Given the description of an element on the screen output the (x, y) to click on. 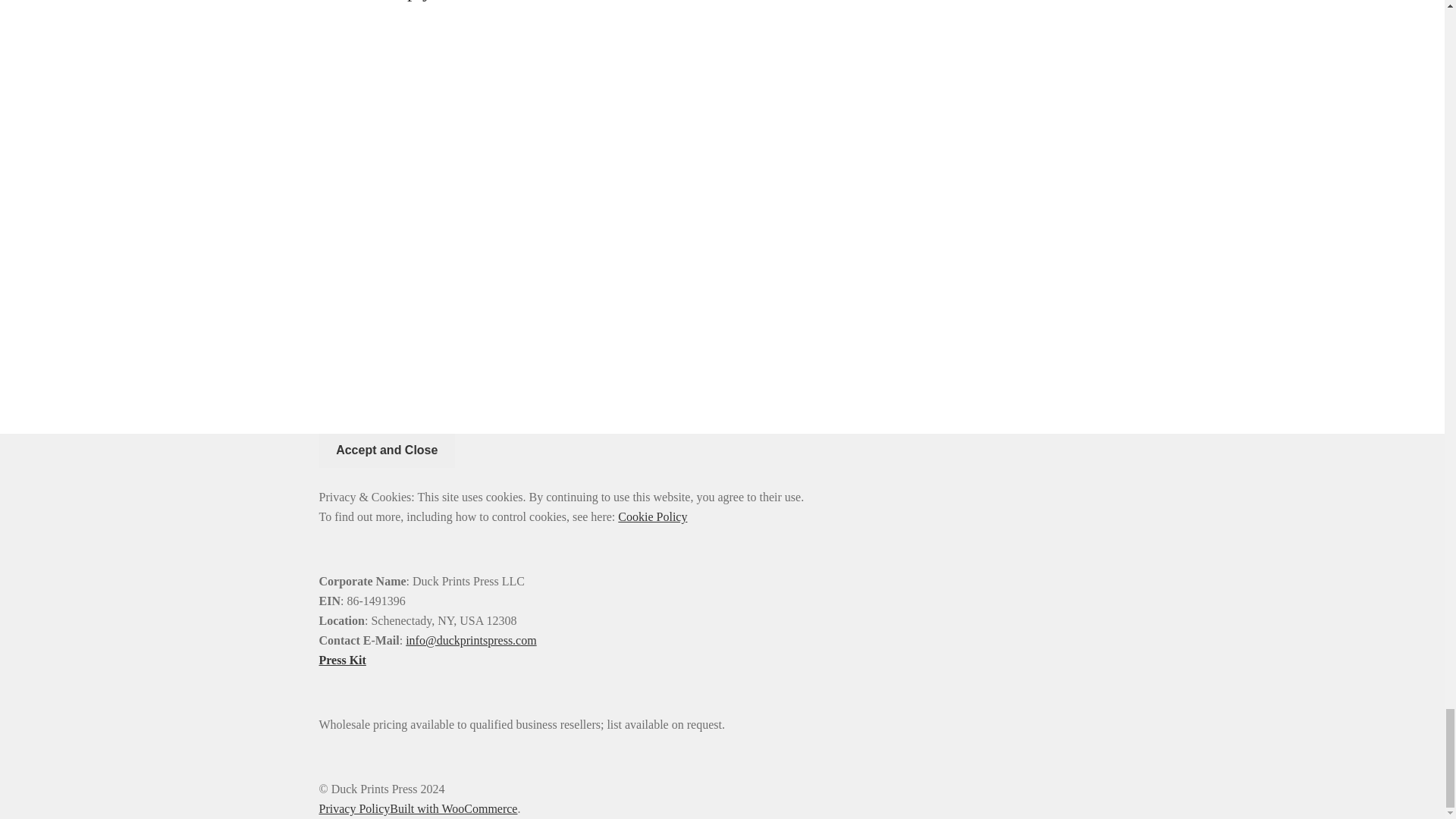
WooCommerce - The Best eCommerce Platform for WordPress (453, 808)
Accept and Close (386, 451)
